Given the description of an element on the screen output the (x, y) to click on. 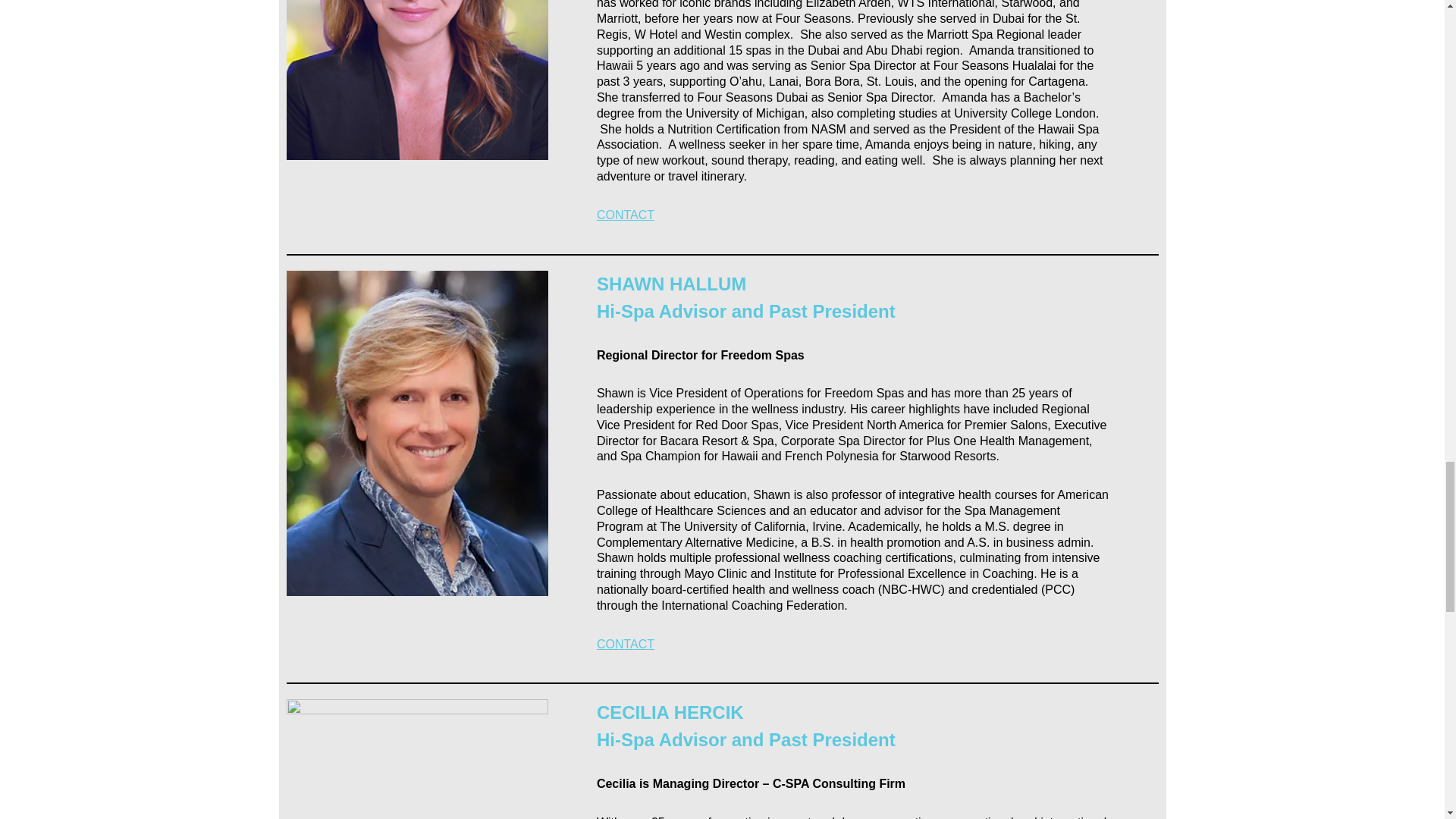
CONTACT (624, 214)
CONTACT (624, 644)
